Given the description of an element on the screen output the (x, y) to click on. 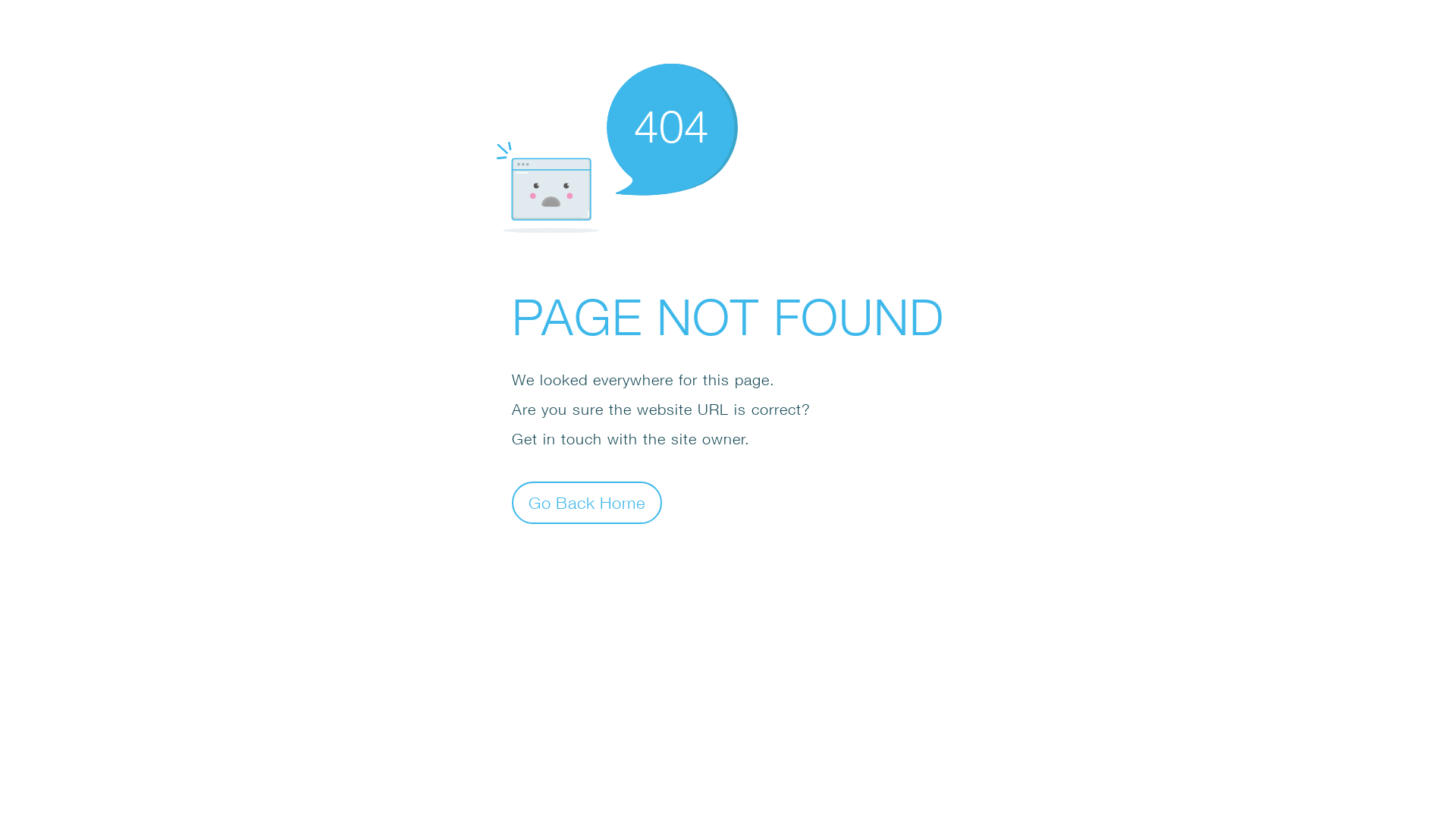
Go Back Home Element type: text (586, 502)
